Given the description of an element on the screen output the (x, y) to click on. 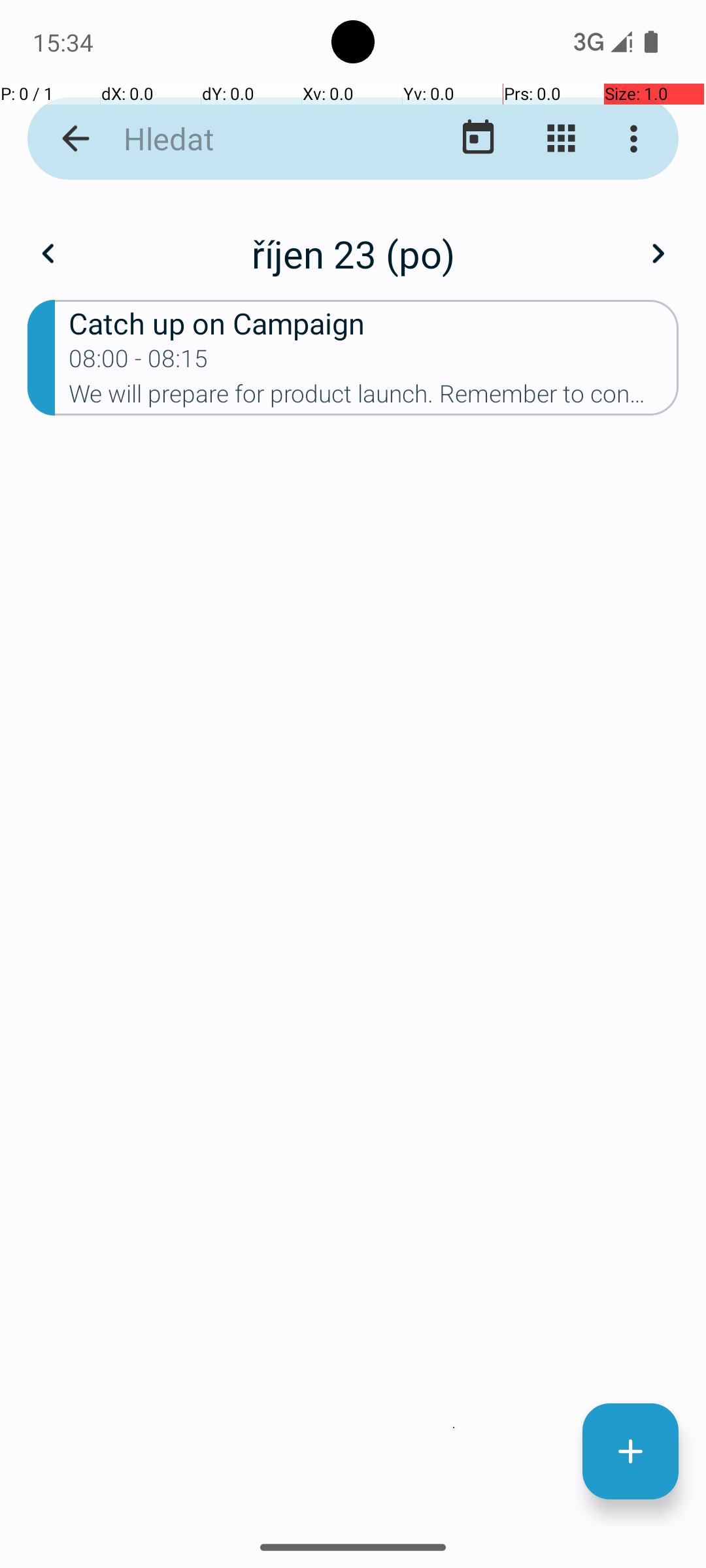
Přejít na dnešní datum Element type: android.widget.Button (477, 138)
říjen Element type: android.widget.TextView (352, 239)
říjen 23 (po) Element type: android.widget.TextView (352, 253)
08:00 - 08:15 Element type: android.widget.TextView (137, 362)
We will prepare for product launch. Remember to confirm attendance. Element type: android.widget.TextView (373, 397)
